Given the description of an element on the screen output the (x, y) to click on. 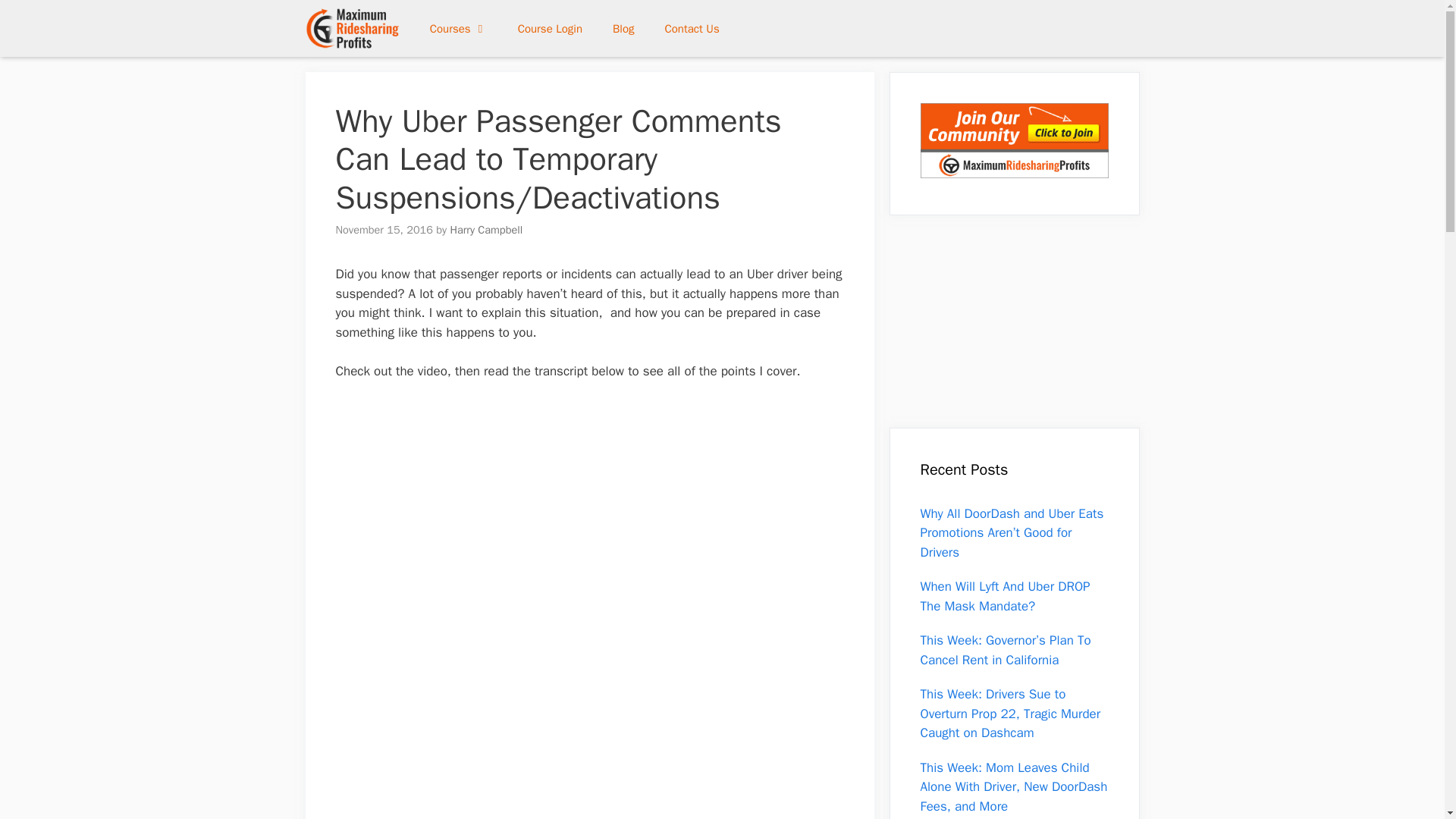
Blog (622, 28)
When Will Lyft And Uber DROP The Mask Mandate? (1005, 596)
Course Login (549, 28)
Harry Campbell (485, 229)
Courses (458, 28)
View all posts by Harry Campbell (485, 229)
Maximum Ridesharing Profits (355, 28)
Maximum Ridesharing Profits (351, 28)
